Given the description of an element on the screen output the (x, y) to click on. 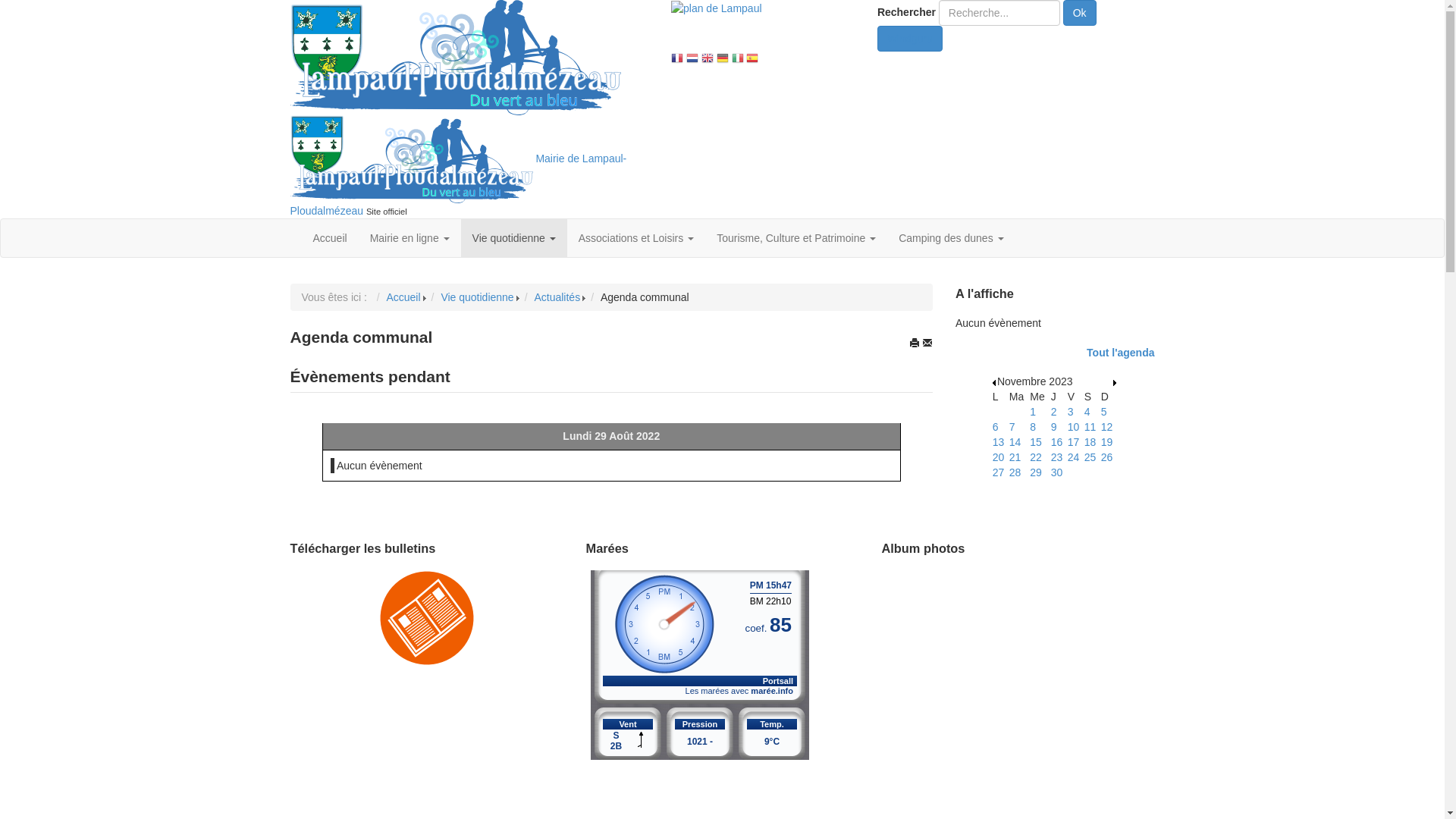
Imprimer Element type: hover (914, 342)
26 Element type: text (1107, 457)
8 Element type: text (1032, 426)
15 Element type: text (1035, 442)
French Element type: hover (677, 58)
29 Element type: text (1035, 472)
Tout l'agenda Element type: text (1120, 352)
Plan de Lampaul Element type: hover (716, 7)
28 Element type: text (1015, 472)
23 Element type: text (1057, 457)
19 Element type: text (1107, 442)
Dutch Element type: hover (692, 58)
12 Element type: text (1107, 426)
24 Element type: text (1073, 457)
Novembre 2023 Element type: text (1035, 381)
27 Element type: text (998, 472)
7 Element type: text (1012, 426)
Italian Element type: hover (737, 58)
18 Element type: text (1090, 442)
14 Element type: text (1015, 442)
6 Element type: text (995, 426)
17 Element type: text (1073, 442)
21 Element type: text (1015, 457)
Accueil Element type: text (402, 297)
German Element type: hover (722, 58)
Vie quotidienne Element type: text (514, 238)
16 Element type: text (1057, 442)
EMAIL Element type: hover (927, 342)
English Element type: hover (707, 58)
9 Element type: text (1054, 426)
20 Element type: text (998, 457)
11 Element type: text (1090, 426)
Camping des dunes Element type: text (950, 238)
3 Element type: text (1070, 411)
10 Element type: text (1073, 426)
4 Element type: text (1087, 411)
Spanish Element type: hover (752, 58)
Mairie en ligne Element type: text (409, 238)
25 Element type: text (1090, 457)
22 Element type: text (1035, 457)
Mois suivant Element type: hover (1114, 382)
Tourisme, Culture et Patrimoine Element type: text (796, 238)
Windguru Element type: text (909, 38)
Vie quotidienne Element type: text (476, 297)
1 Element type: text (1032, 411)
2 Element type: text (1054, 411)
13 Element type: text (998, 442)
Ok Element type: text (1079, 12)
5 Element type: text (1104, 411)
30 Element type: text (1057, 472)
Accueil Element type: text (329, 238)
Associations et Loisirs Element type: text (636, 238)
